Given the description of an element on the screen output the (x, y) to click on. 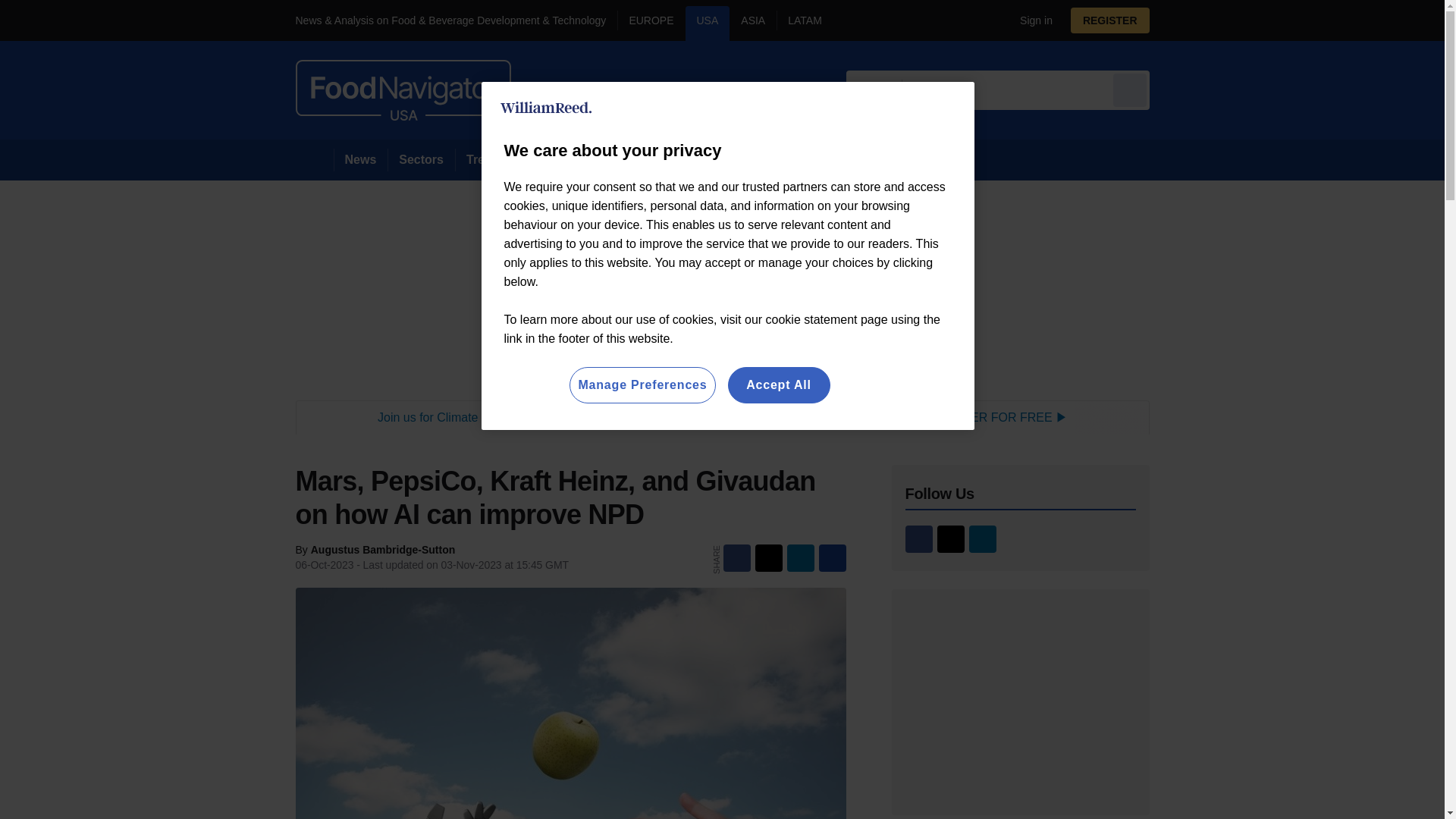
USA (707, 22)
Send (1129, 89)
FoodNavigator USA (403, 89)
My account (1114, 20)
News (360, 159)
William Reed (545, 107)
3rd party ad content (722, 417)
Sign out (1032, 20)
Home (314, 159)
EUROPE (650, 22)
Sign in (1029, 20)
ASIA (752, 22)
Home (313, 159)
REGISTER (1110, 20)
